Given the description of an element on the screen output the (x, y) to click on. 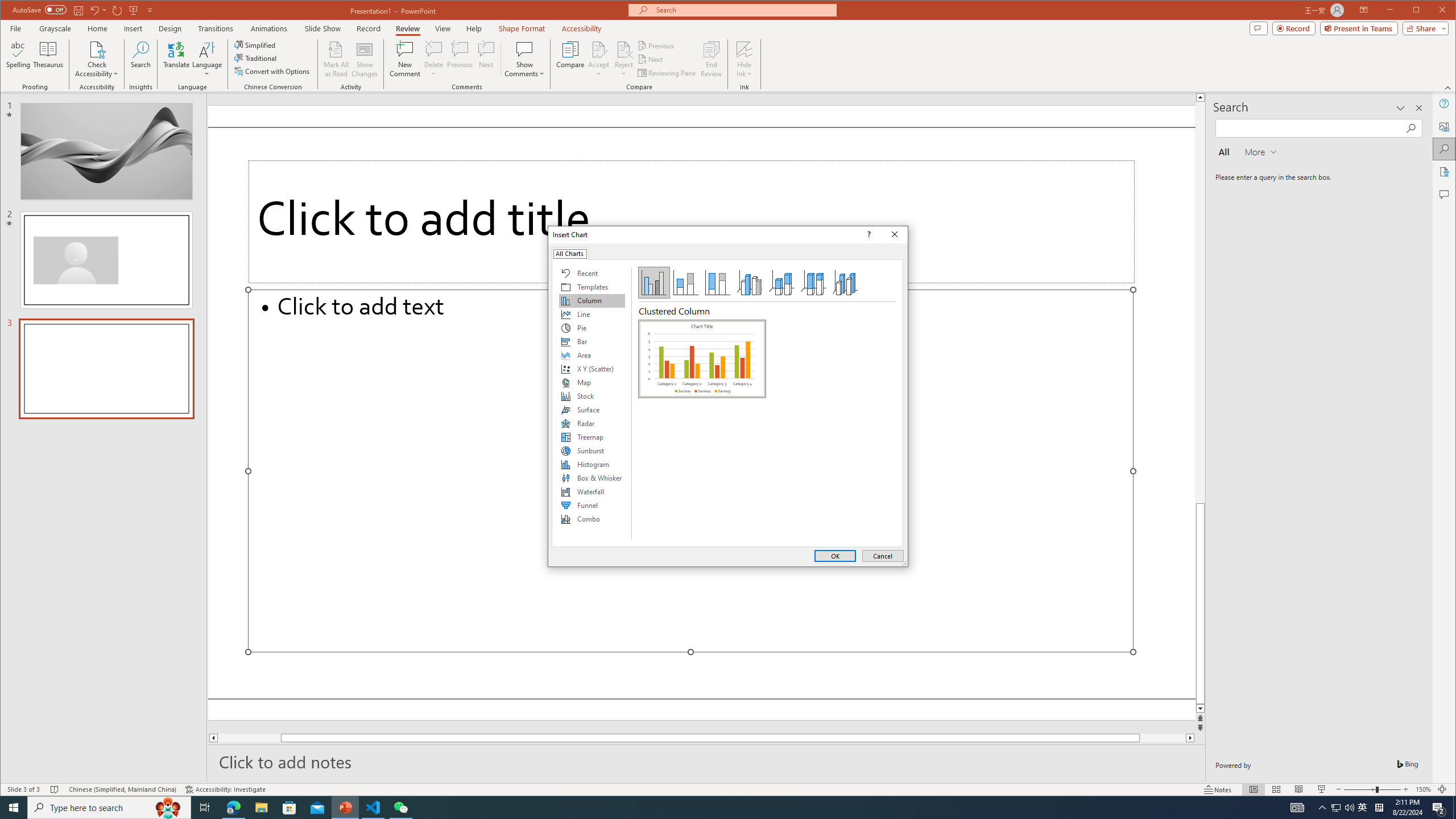
Zoom 150% (1422, 789)
Funnel (591, 505)
Pie (591, 327)
Surface (591, 409)
